Given the description of an element on the screen output the (x, y) to click on. 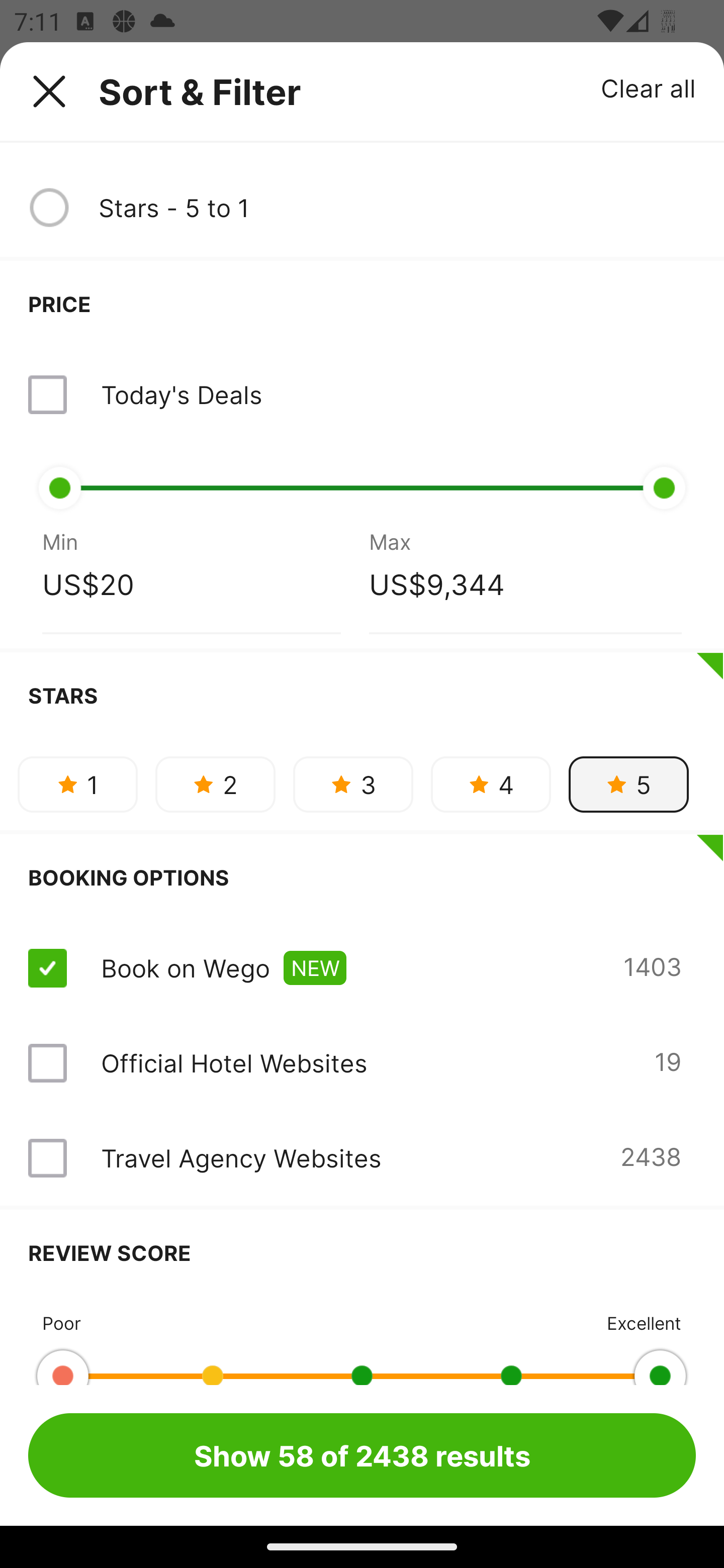
Clear all (648, 87)
Stars - 5 to 1 (396, 207)
Today's Deals (362, 394)
Today's Deals (181, 394)
1 (77, 783)
2 (214, 783)
3 (352, 783)
4 (491, 783)
5 (627, 783)
Book on Wego NEW 1403 (362, 968)
Book on Wego (184, 968)
Official Hotel Websites 19 (362, 1063)
Official Hotel Websites (233, 1062)
Travel Agency Websites 2438 (362, 1157)
Travel Agency Websites (240, 1157)
Poor Excellent (362, 1340)
Show 58 of 2438 results (361, 1454)
